Given the description of an element on the screen output the (x, y) to click on. 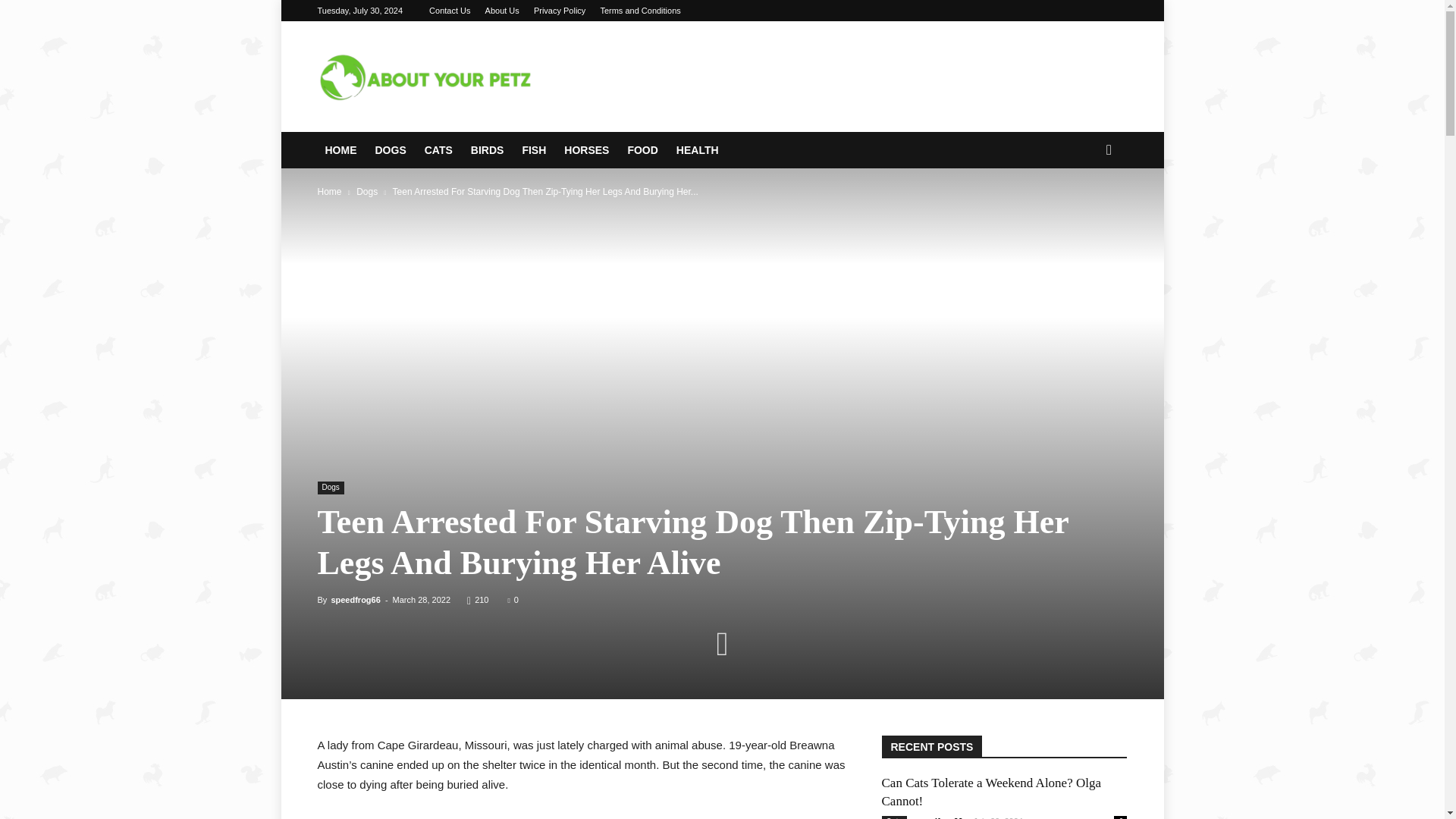
DOGS (391, 149)
Privacy Policy (559, 10)
Contact Us (449, 10)
HOME (341, 149)
CATS (439, 149)
Terms and Conditions (639, 10)
About Us (501, 10)
